Given the description of an element on the screen output the (x, y) to click on. 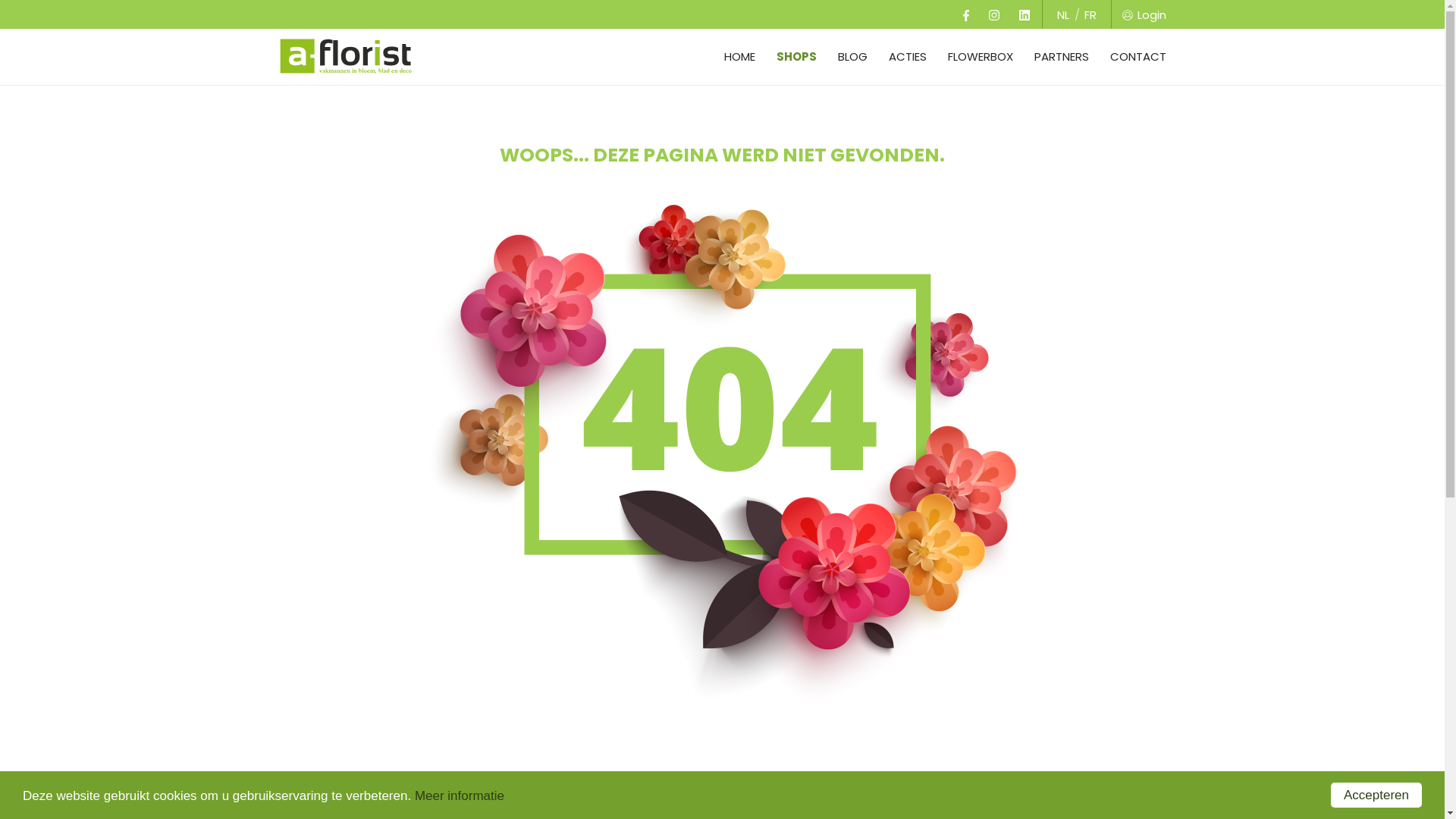
FR Element type: text (1090, 14)
BLOG Element type: text (851, 56)
ACTIES Element type: text (907, 56)
Meer informatie Element type: text (459, 795)
 Login Element type: text (1140, 14)
FLOWERBOX Element type: text (980, 56)
Accepteren Element type: text (1375, 794)
CONTACT Element type: text (1133, 56)
HOME Element type: text (738, 56)
PARTNERS Element type: text (1061, 56)
NL Element type: text (1062, 14)
SHOPS Element type: text (796, 56)
